Given the description of an element on the screen output the (x, y) to click on. 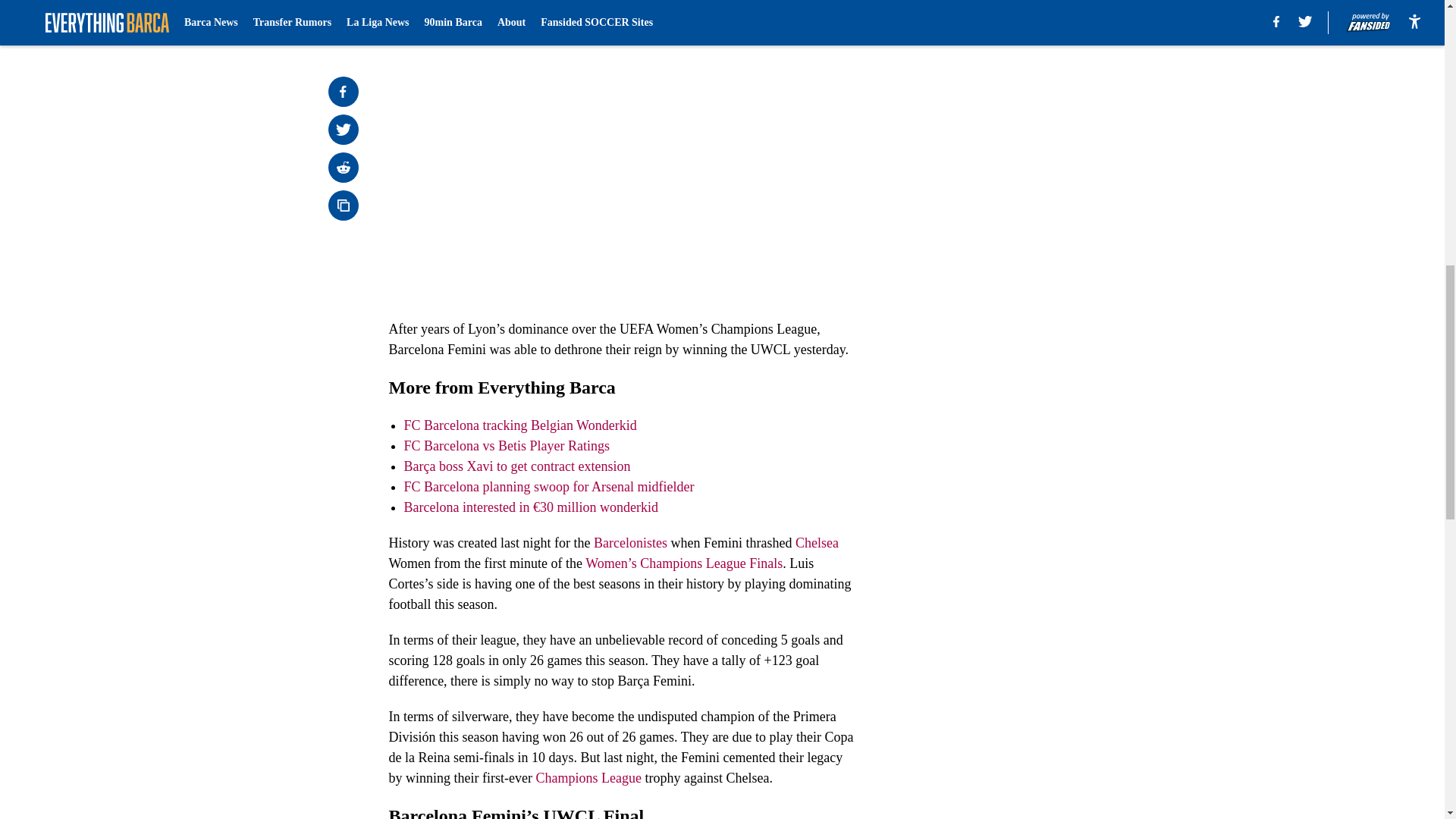
FC Barcelona vs Betis Player Ratings (505, 445)
FC Barcelona planning swoop for Arsenal midfielder (548, 486)
Chelsea (816, 542)
FC Barcelona tracking Belgian Wonderkid (519, 425)
Barcelonistes (630, 542)
Champions League (587, 777)
